Given the description of an element on the screen output the (x, y) to click on. 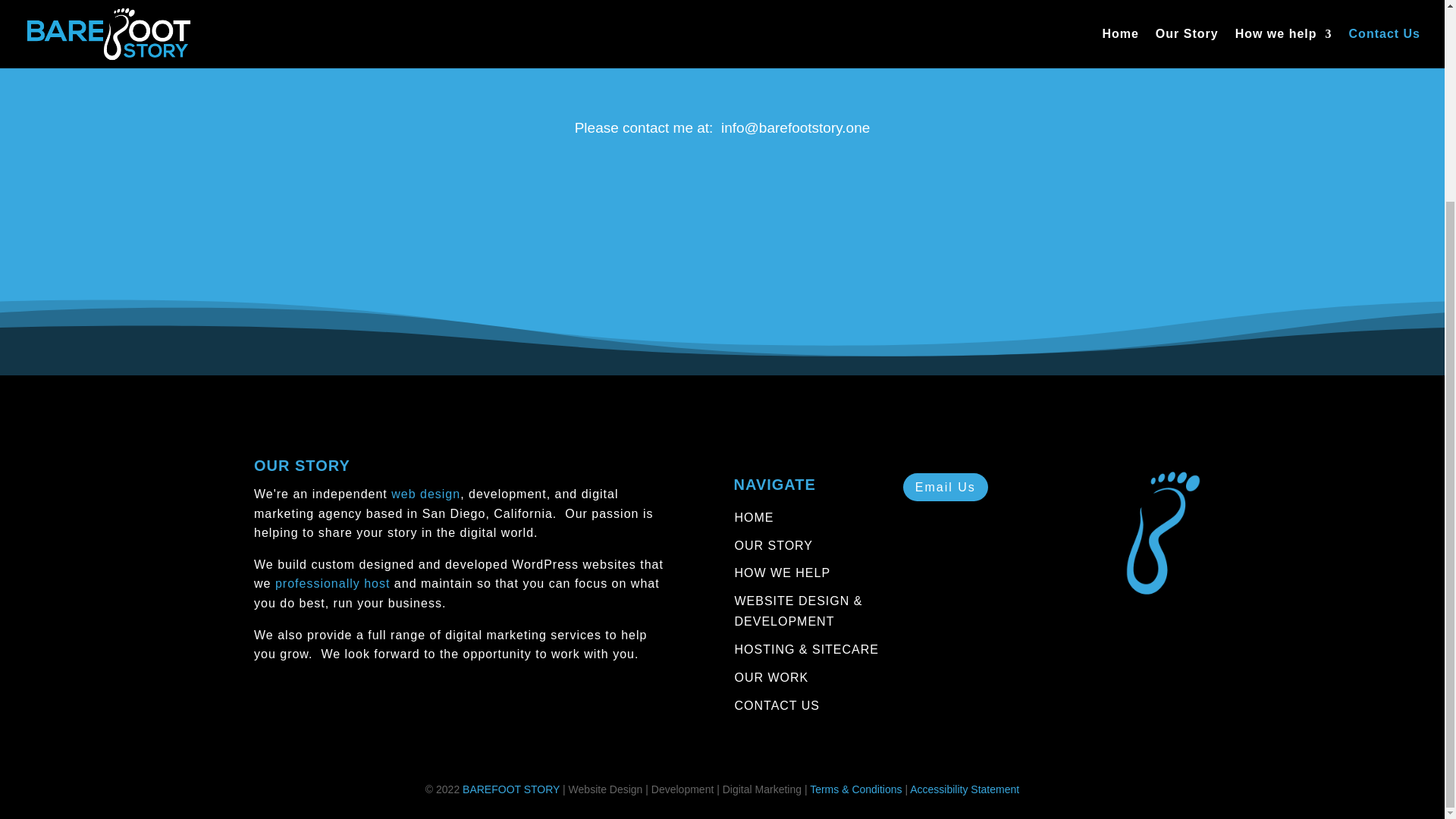
CONTACT US (776, 705)
BAREFOOT STORY (511, 788)
HOW WE HELP (782, 573)
San Diego Website Design (425, 493)
OUR STORY (773, 545)
OUR WORK (771, 677)
HOME (754, 517)
professionally host (332, 583)
Accessibility Statement (964, 788)
Email Us (945, 487)
Barefoot Story Website Hosting (332, 583)
web design (425, 493)
